Given the description of an element on the screen output the (x, y) to click on. 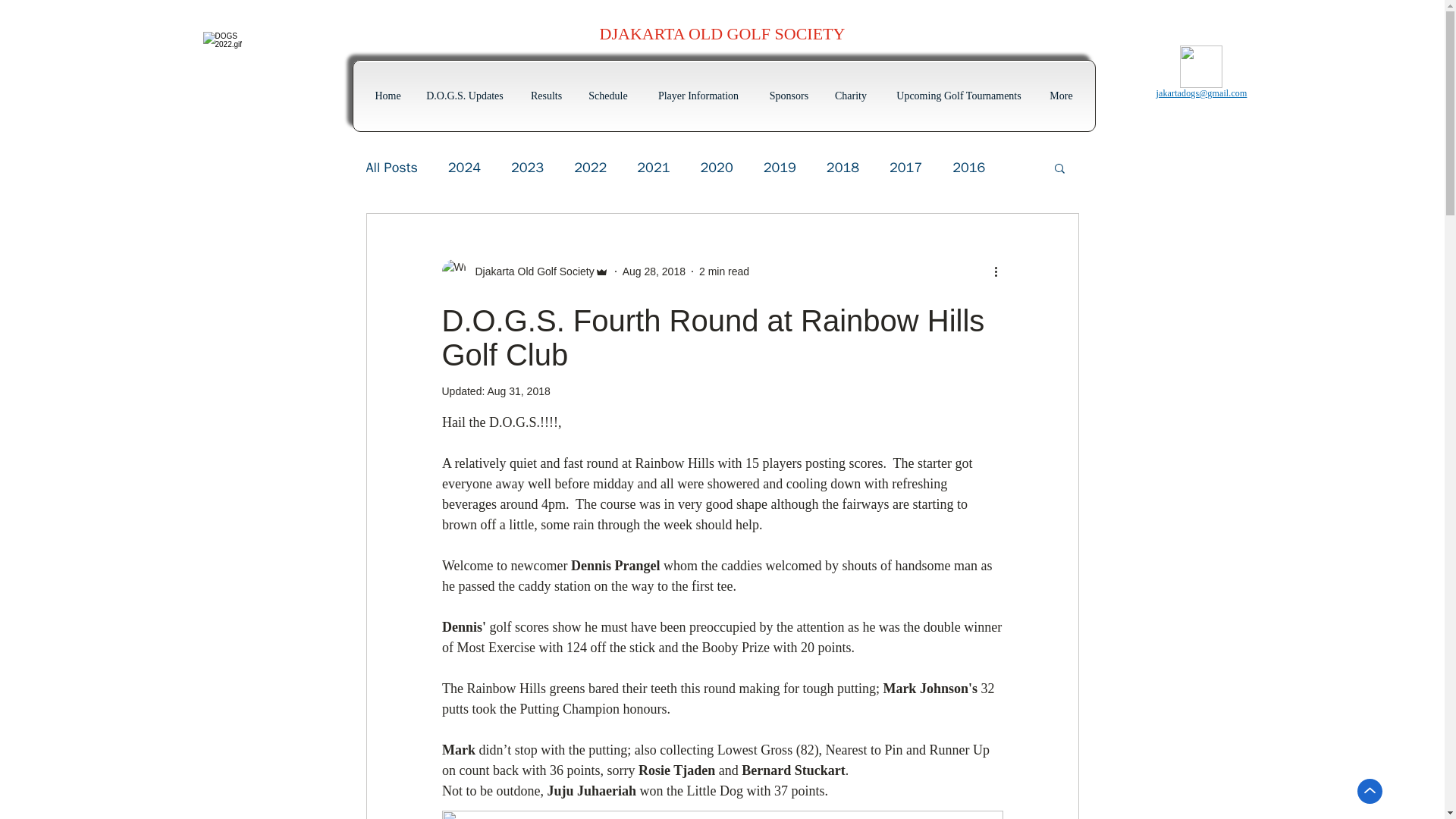
2018 (843, 167)
2024 (464, 167)
All Posts (390, 167)
Schedule (607, 95)
2020 (716, 167)
2 min read (723, 271)
2017 (905, 167)
Djakarta Old Golf Society (524, 271)
2016 (968, 167)
Sponsors (788, 95)
Home (388, 95)
2019 (779, 167)
2023 (527, 167)
D.O.G.S. Updates (465, 95)
2022 (590, 167)
